Given the description of an element on the screen output the (x, y) to click on. 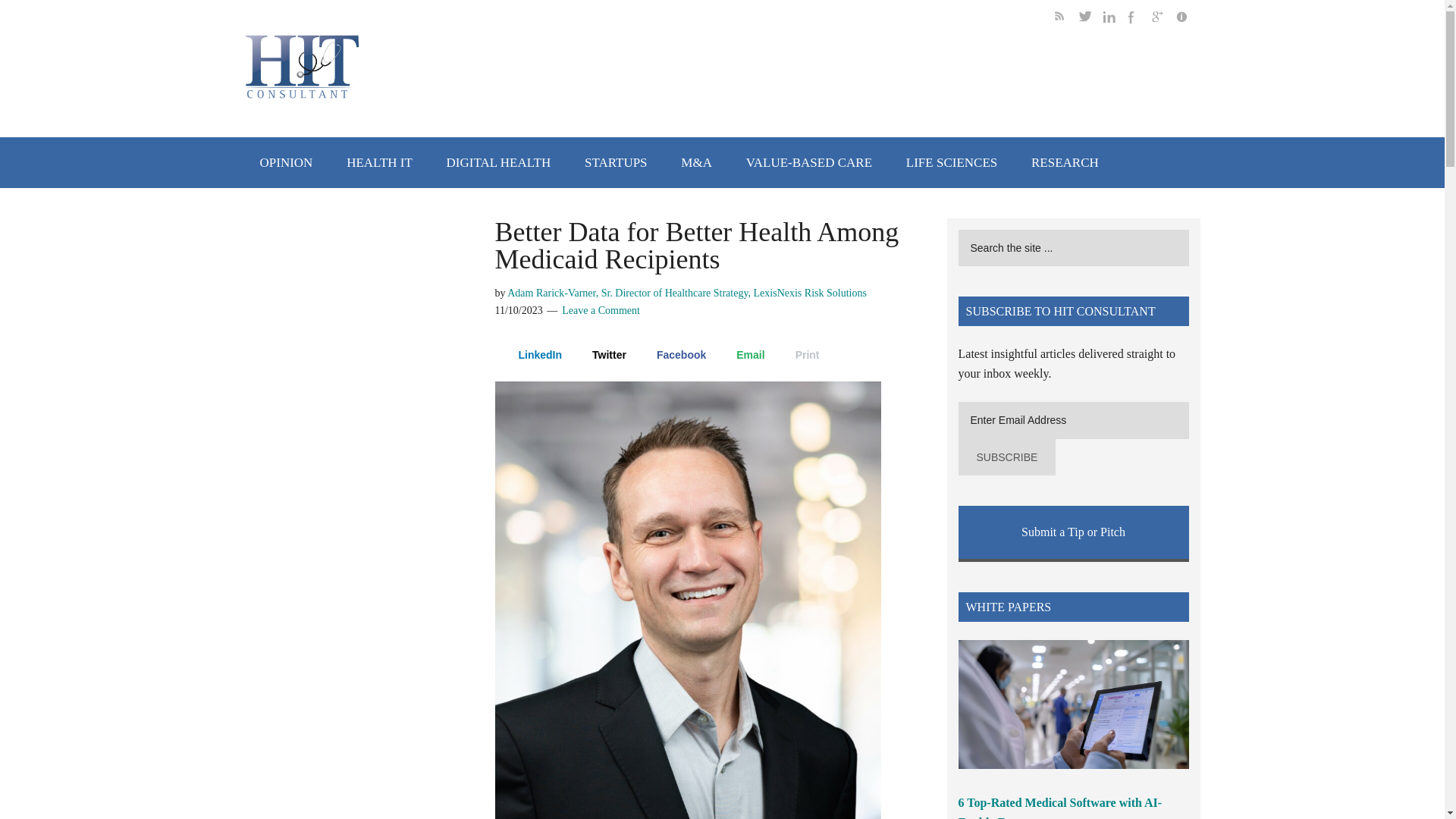
follow (1162, 19)
DIGITAL HEALTH (498, 162)
get more info (1186, 19)
Subscribe (1007, 456)
follow (1114, 19)
OPINION (285, 162)
RESEARCH (1064, 162)
HEALTH IT (379, 162)
STARTUPS (615, 162)
Facebook (673, 354)
